Given the description of an element on the screen output the (x, y) to click on. 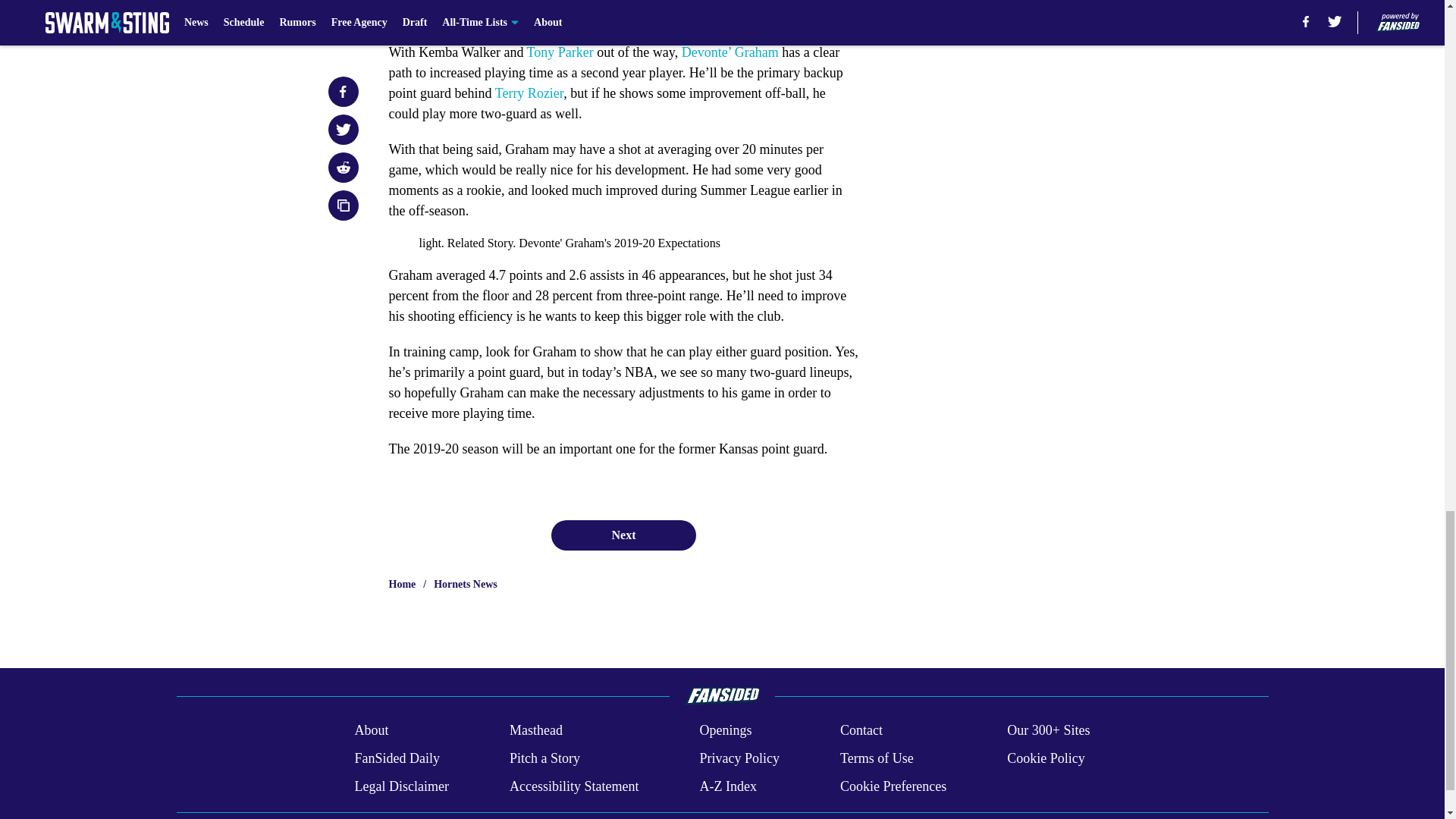
About (370, 730)
Pitch a Story (544, 758)
Privacy Policy (738, 758)
Home (401, 584)
FanSided Daily (396, 758)
Hornets News (465, 584)
Terms of Use (877, 758)
Tony Parker (560, 52)
Next (622, 535)
Openings (724, 730)
Terry Rozier (529, 92)
Contact (861, 730)
Masthead (535, 730)
